Given the description of an element on the screen output the (x, y) to click on. 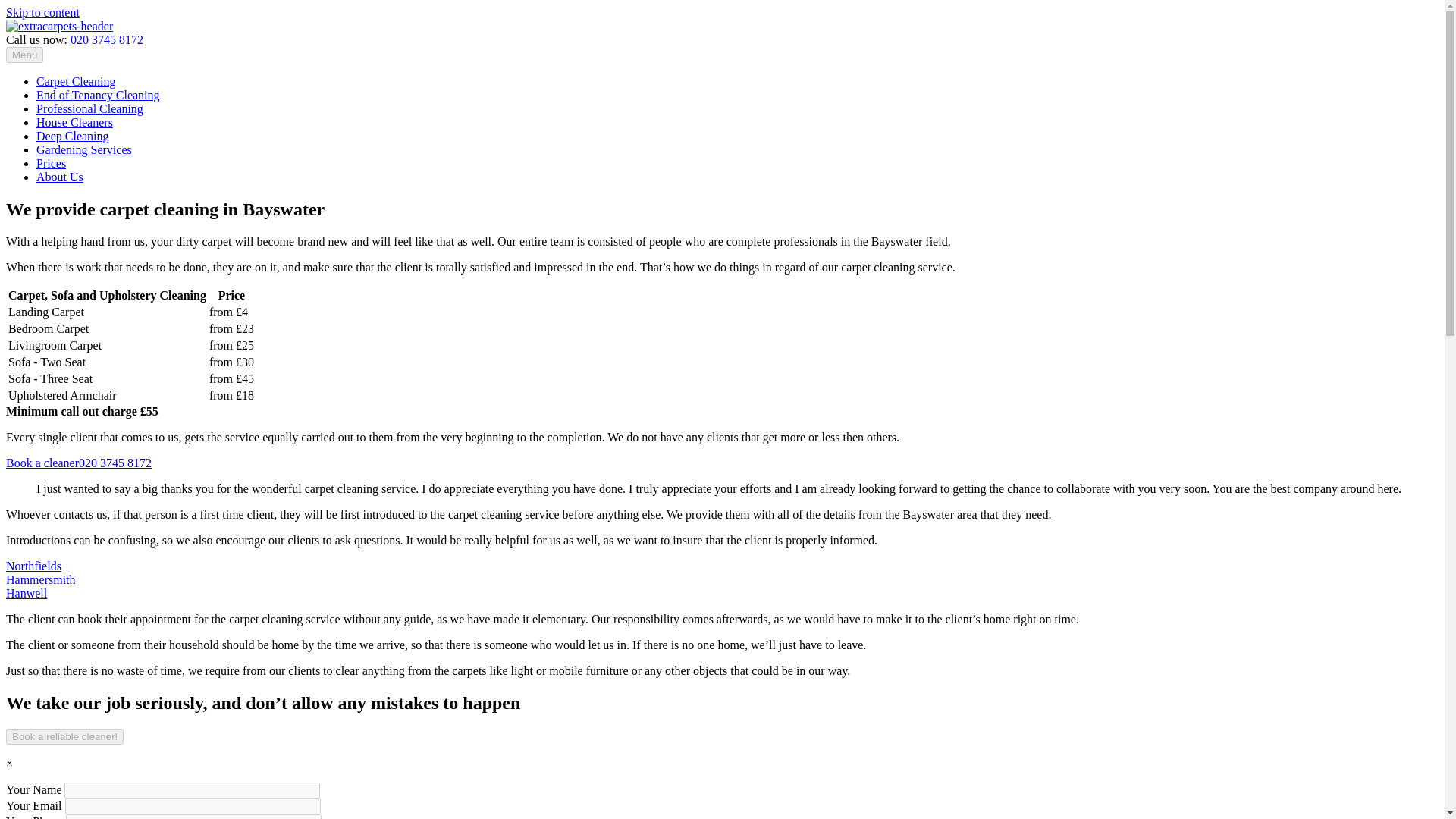
Menu (24, 54)
Skip to content (42, 11)
Hanwell (25, 593)
Professional Cleaning (89, 108)
End of Tenancy Cleaning (98, 94)
Prices (50, 163)
House Cleaners (74, 122)
Gardening Services (84, 149)
Carpet Cleaning (75, 81)
020 3745 8172 (105, 39)
